Given the description of an element on the screen output the (x, y) to click on. 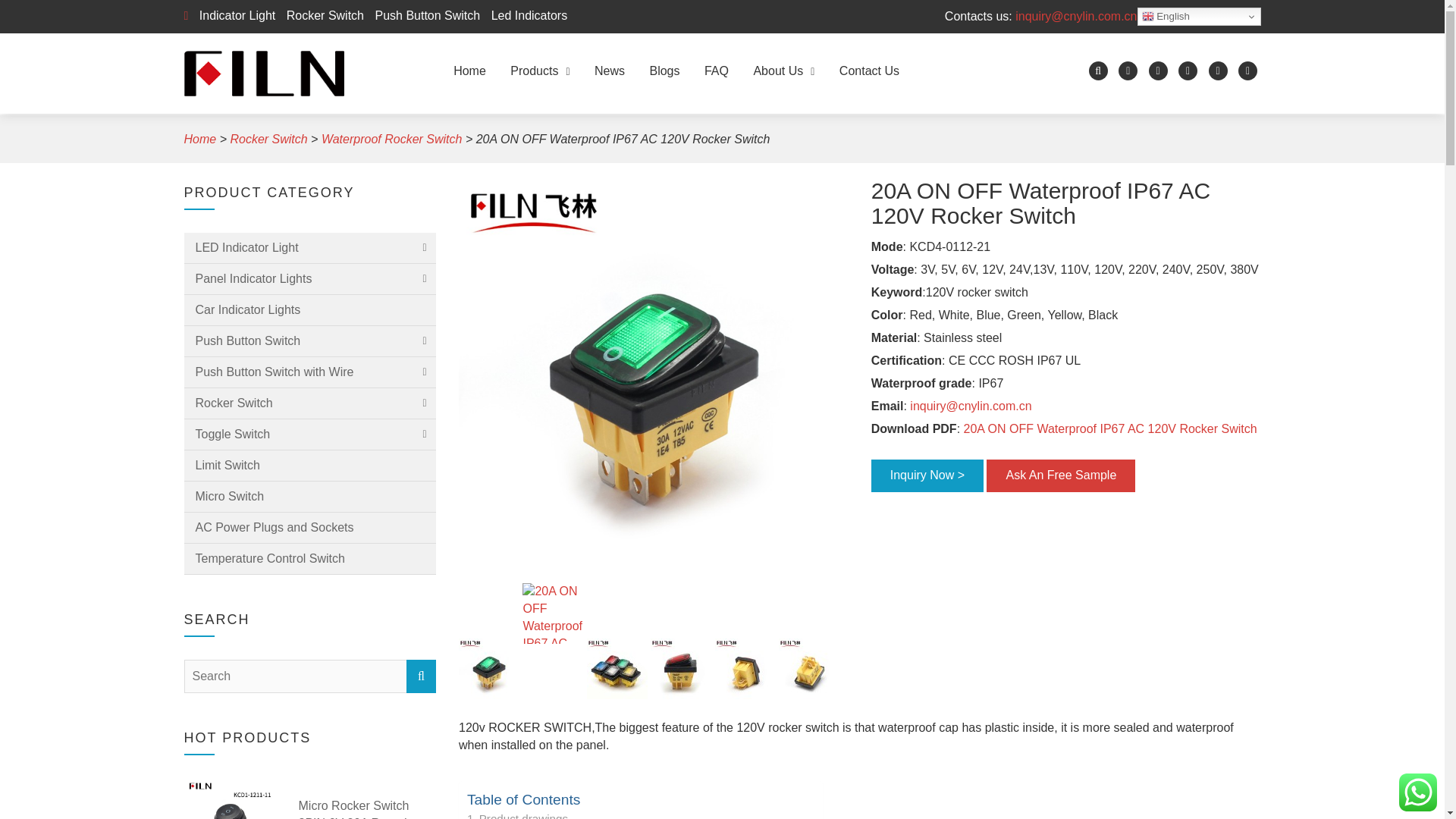
Push Button Switch (423, 15)
Go to the Waterproof Rocker Switch category archives. (392, 138)
Indicator Light (234, 15)
Led Indicators (525, 15)
Rocker Switch (321, 15)
Go to indicatorlight. (199, 138)
Micro Rocker Switch 3PIN 6V 20A Round Electrical (366, 808)
Go to the Rocker Switch category archives. (268, 138)
